Given the description of an element on the screen output the (x, y) to click on. 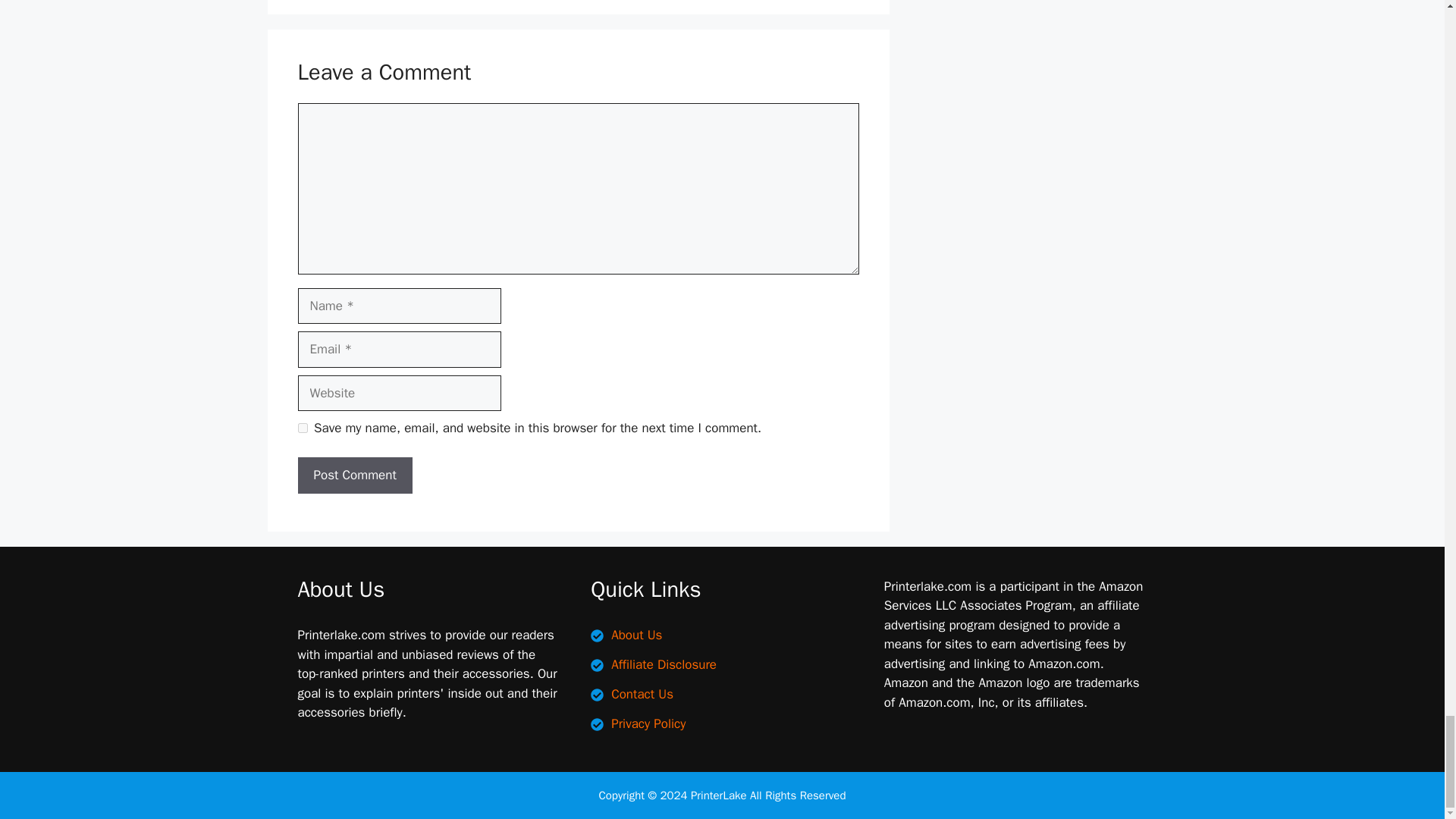
Post Comment (354, 475)
yes (302, 428)
